Given the description of an element on the screen output the (x, y) to click on. 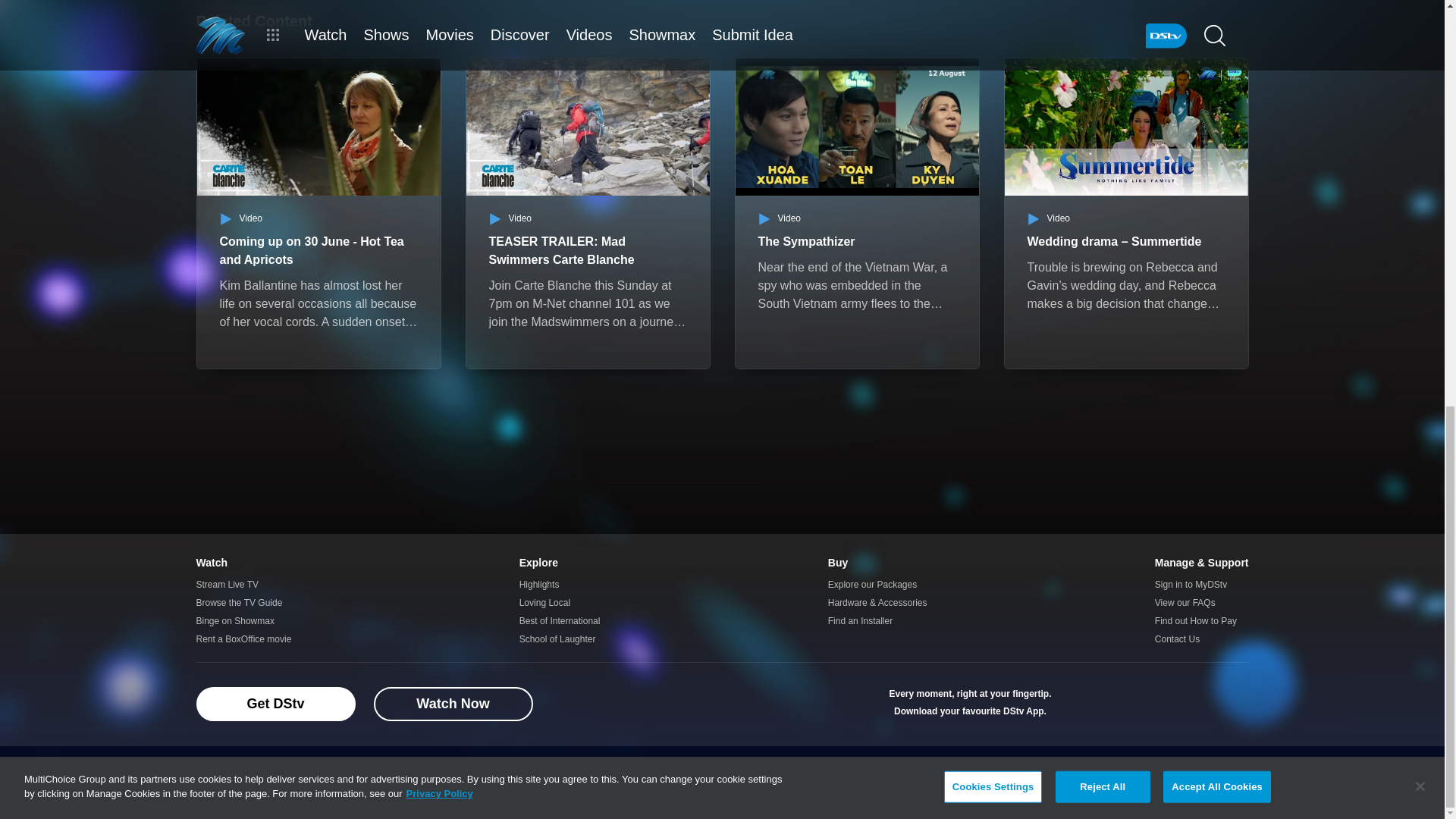
Google (1081, 704)
WebURL (1228, 704)
Sign in to MyDStv (1201, 584)
Loving Local (559, 602)
Facebook (1208, 782)
Browse the TV Guide (243, 602)
School of Laughter (559, 638)
WebURL (1131, 704)
Instagram (1173, 782)
Stream Live TV (243, 584)
Highlights (559, 584)
Get DStv (275, 704)
Contact Us (1201, 638)
Watch Now (452, 704)
YouTube (1243, 782)
